Given the description of an element on the screen output the (x, y) to click on. 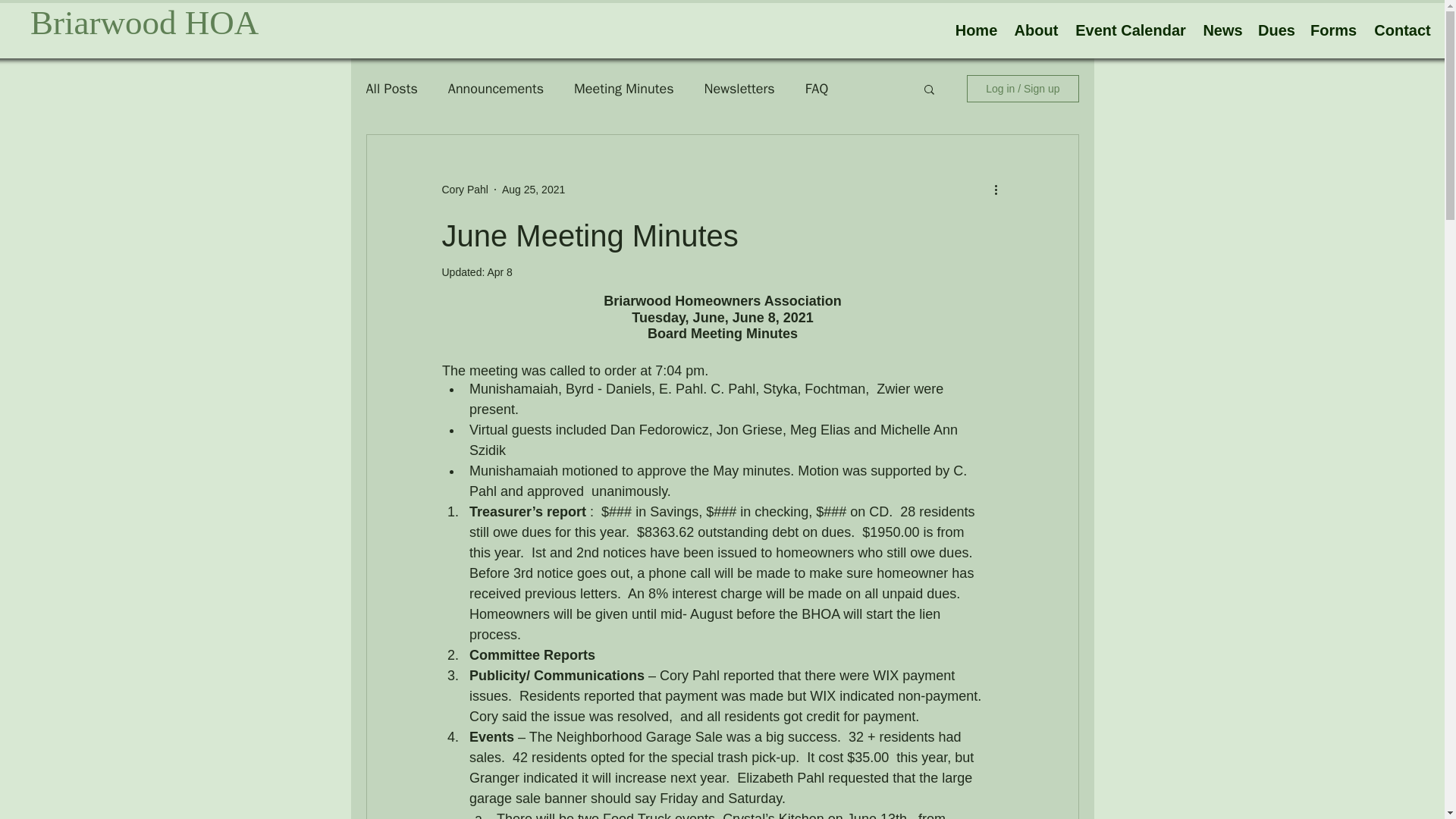
News (1222, 30)
All Posts (390, 88)
Aug 25, 2021 (533, 189)
Cory Pahl (464, 189)
Home (976, 30)
FAQ (816, 88)
Cory Pahl (464, 189)
Event Calendar (1130, 30)
Newsletters (739, 88)
Meeting Minutes (623, 88)
Contact (1402, 30)
Dues (1276, 30)
Announcements (495, 88)
Apr 8 (499, 272)
